Given the description of an element on the screen output the (x, y) to click on. 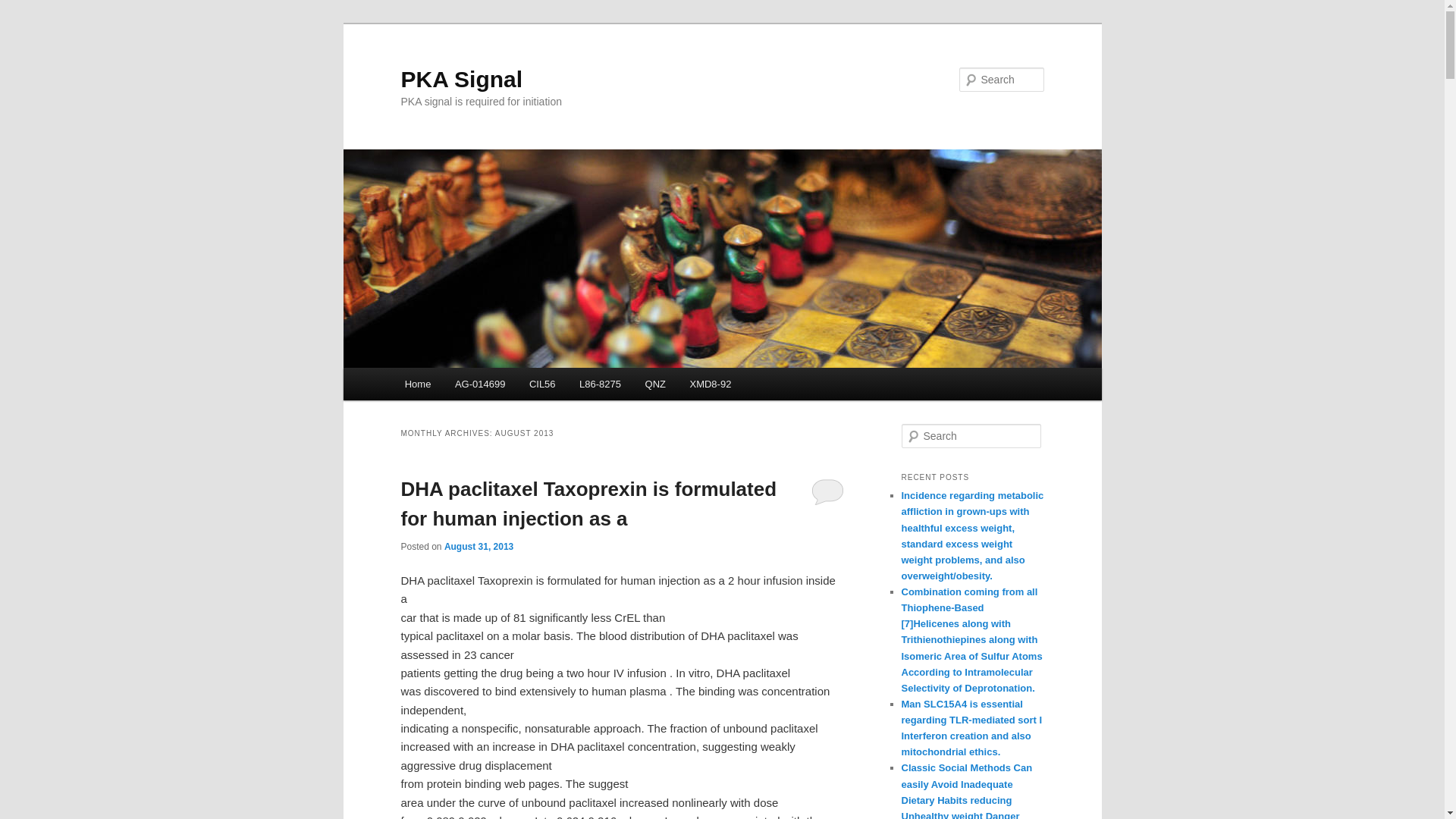
August 31, 2013 (478, 546)
XMD8-92 (710, 383)
Skip to secondary content (479, 386)
AG-014699 (479, 383)
PKA Signal (461, 78)
2:56 am (478, 546)
Home (417, 383)
Skip to primary content (472, 386)
Home (417, 383)
L86-8275 (599, 383)
CIL56 (541, 383)
PKA Signal (461, 78)
